Given the description of an element on the screen output the (x, y) to click on. 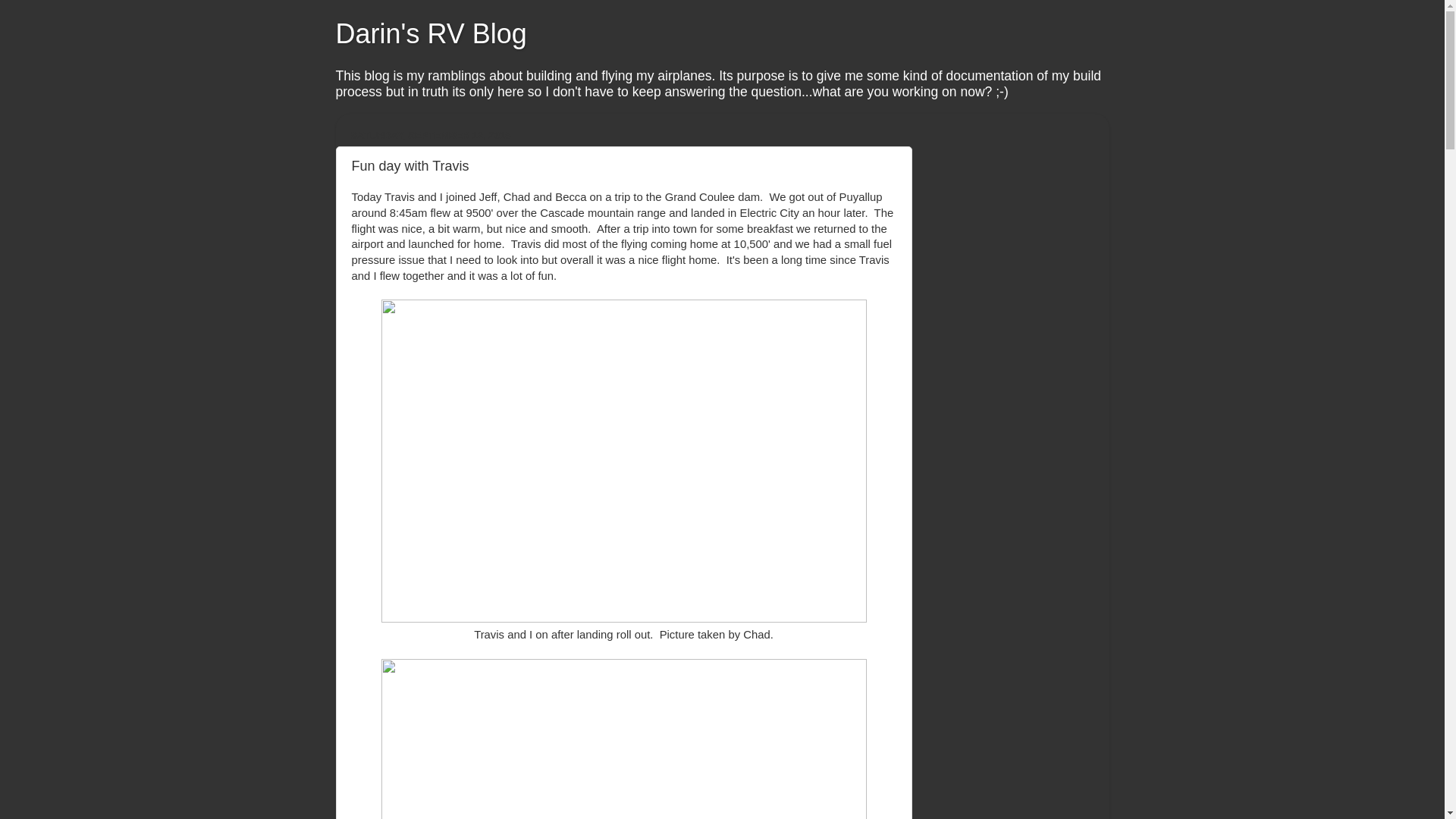
Darin's RV Blog (429, 33)
